Given the description of an element on the screen output the (x, y) to click on. 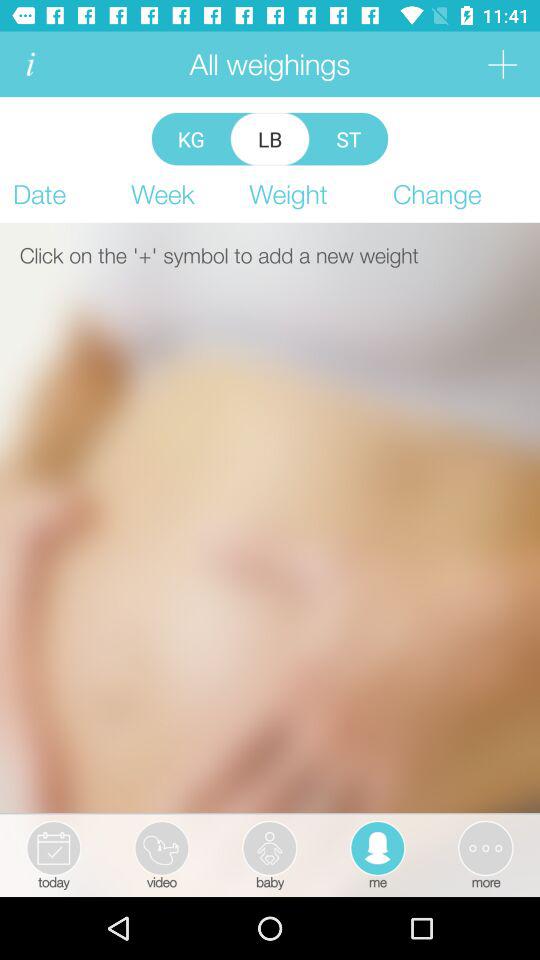
information (30, 63)
